Given the description of an element on the screen output the (x, y) to click on. 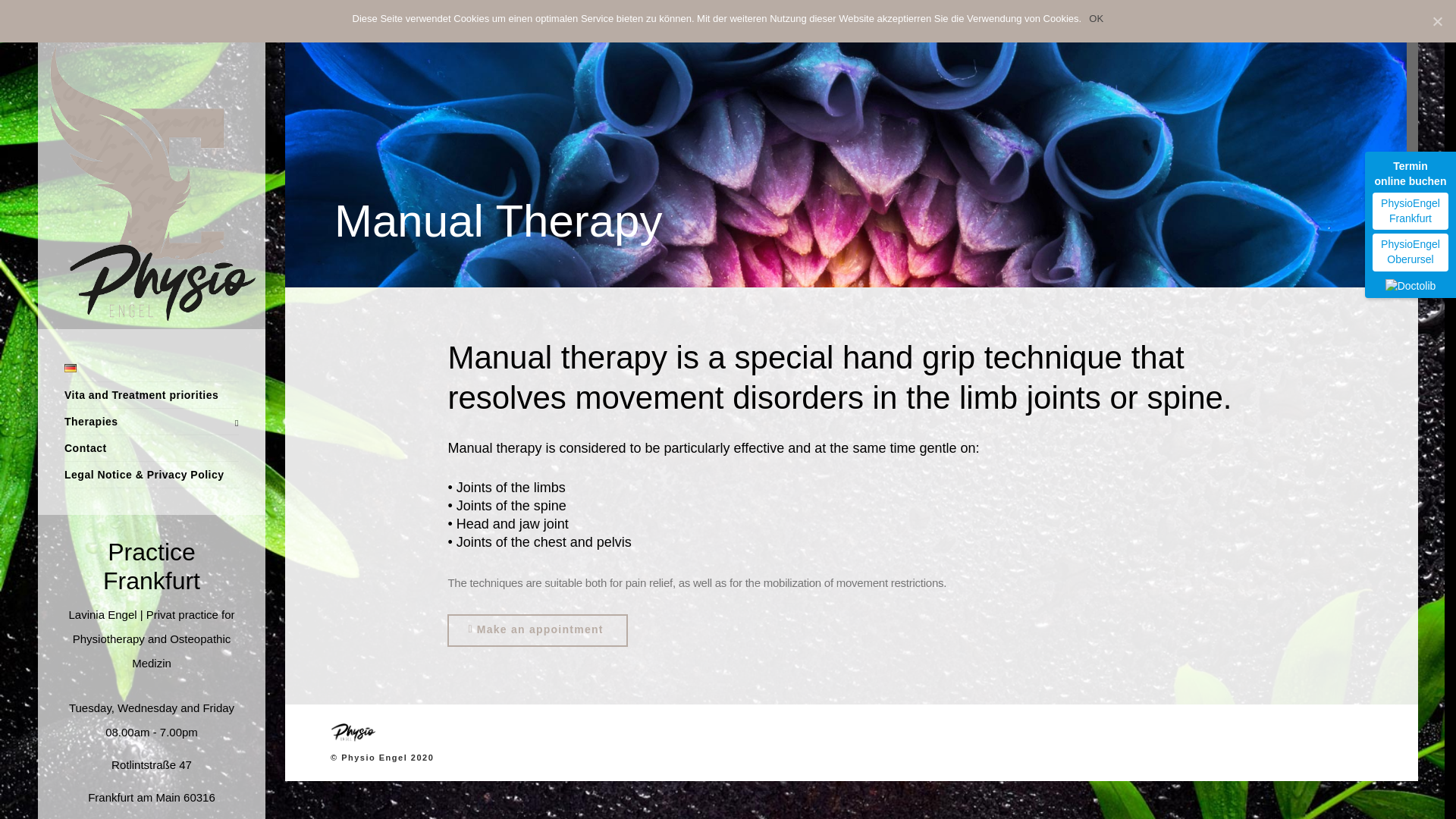
Contact (151, 447)
Therapies (151, 421)
PhysioEngel Oberursel (1410, 252)
PhysioEngel Frankfurt (1410, 211)
Deutsch (70, 367)
Vita and Treatment priorities (151, 395)
